Given the description of an element on the screen output the (x, y) to click on. 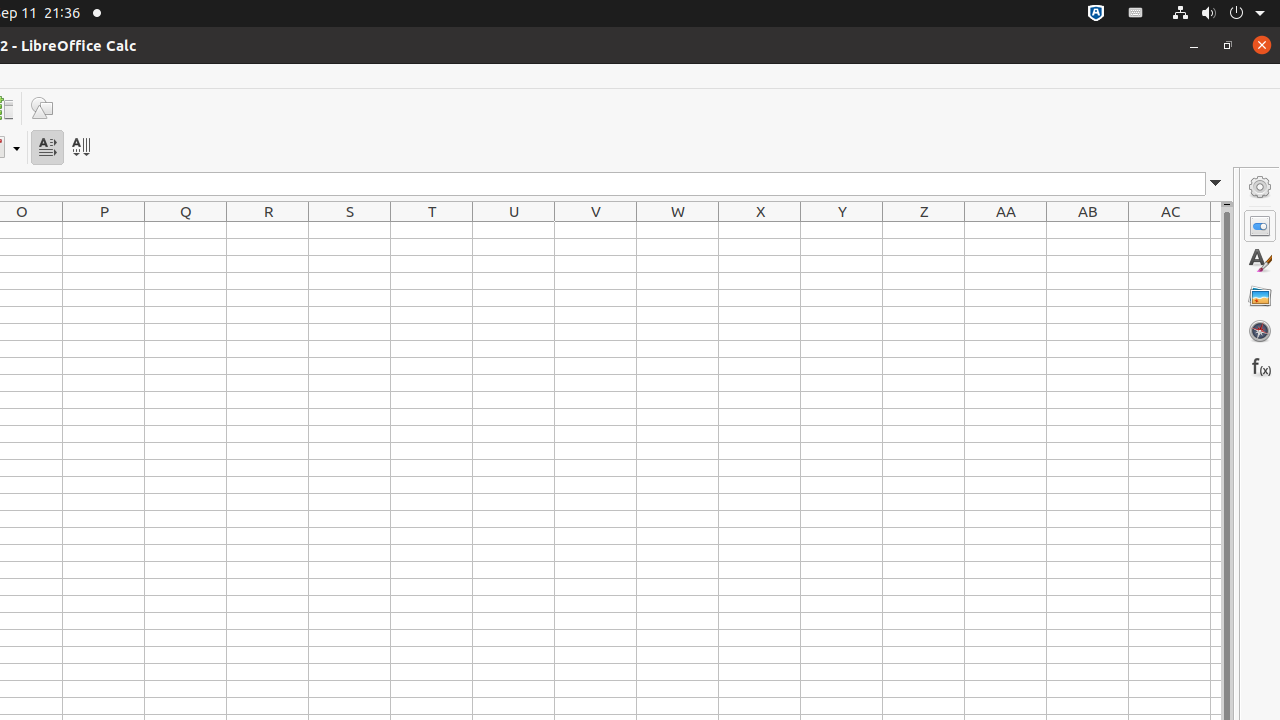
AB1 Element type: table-cell (1088, 230)
AA1 Element type: table-cell (1006, 230)
Text direction from left to right Element type: toggle-button (47, 147)
